Given the description of an element on the screen output the (x, y) to click on. 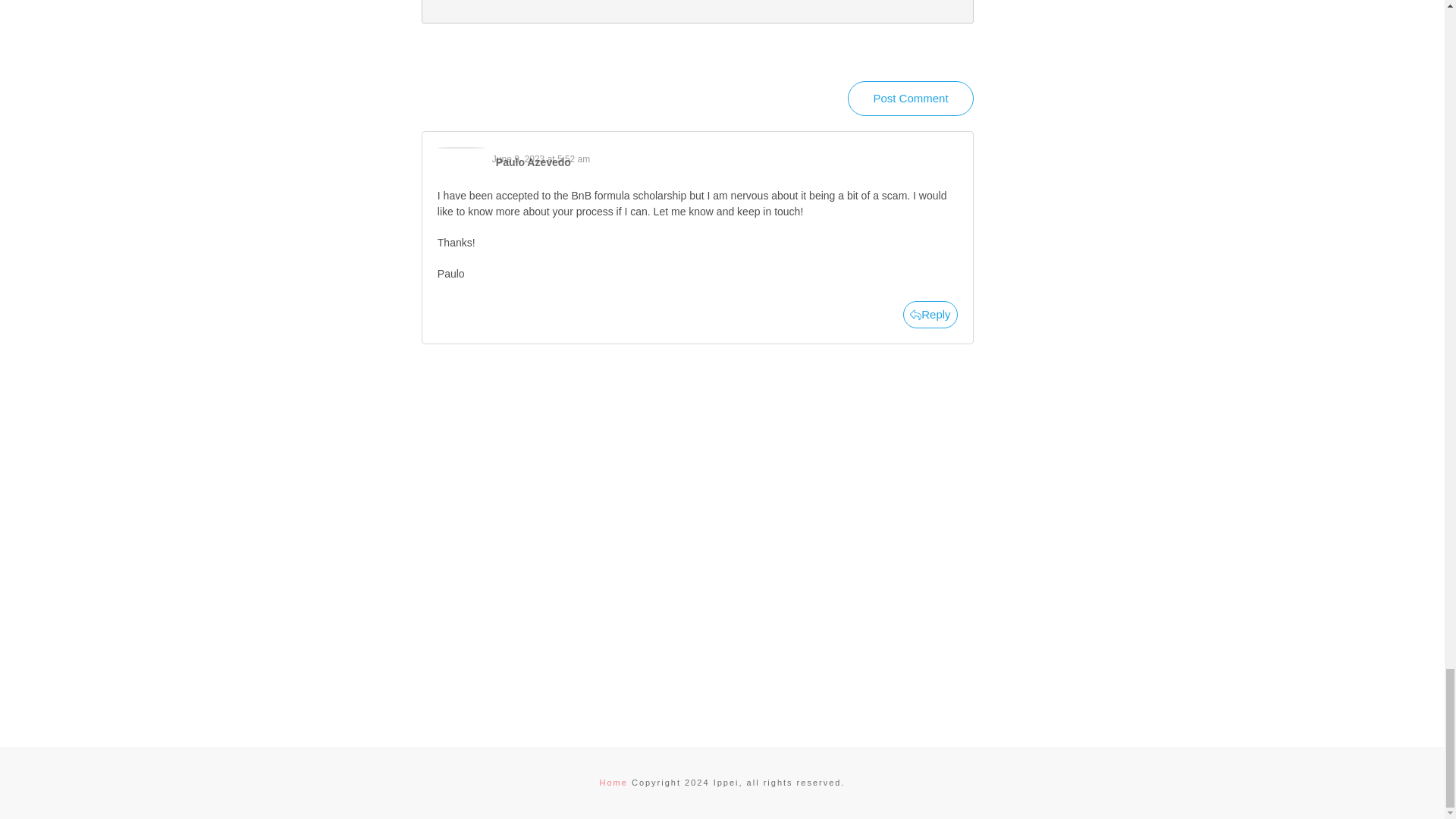
Post Comment (909, 98)
Reply (929, 314)
June 9, 2023 at 5:52 am (540, 158)
